Given the description of an element on the screen output the (x, y) to click on. 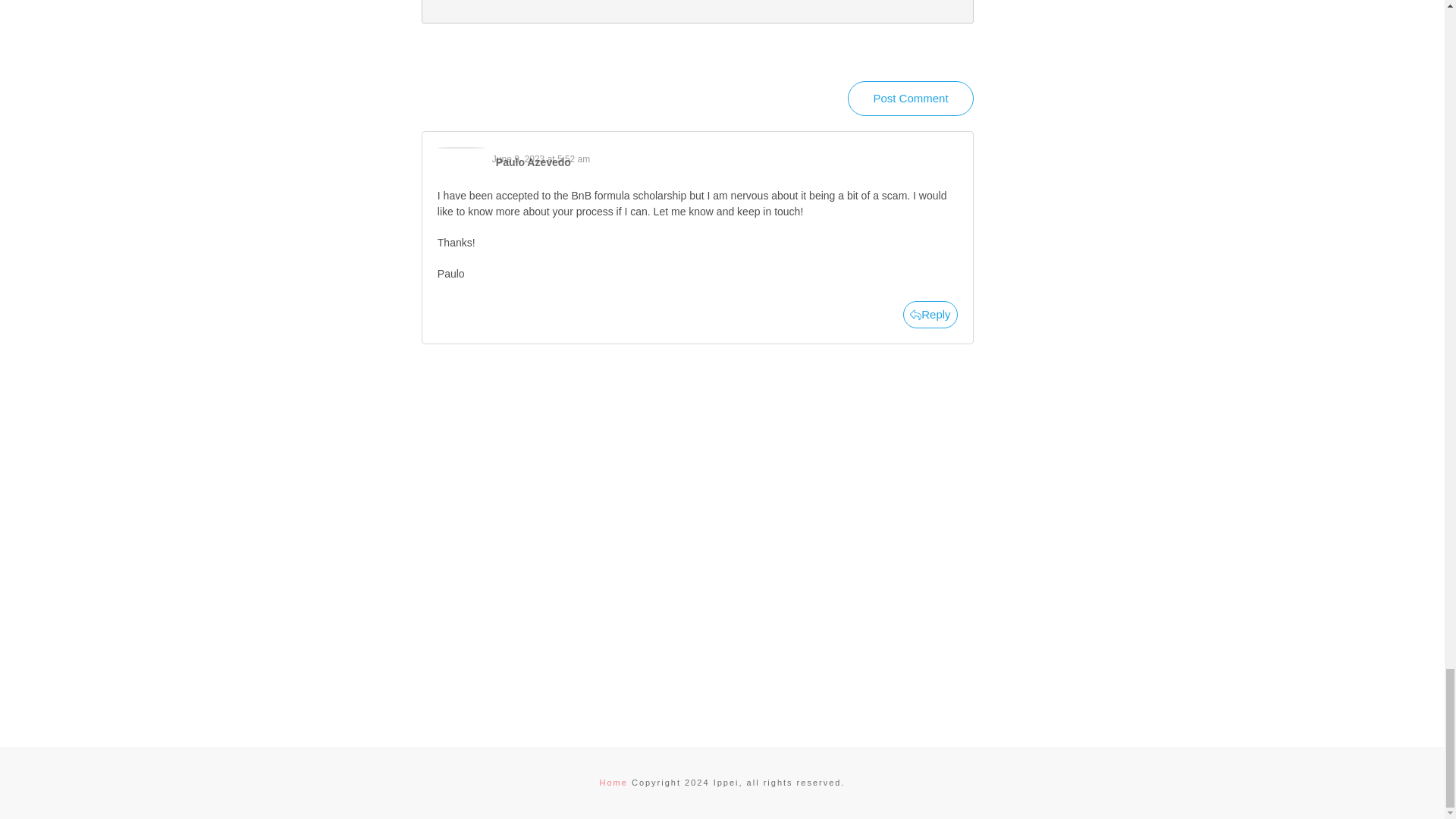
Post Comment (909, 98)
Reply (929, 314)
June 9, 2023 at 5:52 am (540, 158)
